Given the description of an element on the screen output the (x, y) to click on. 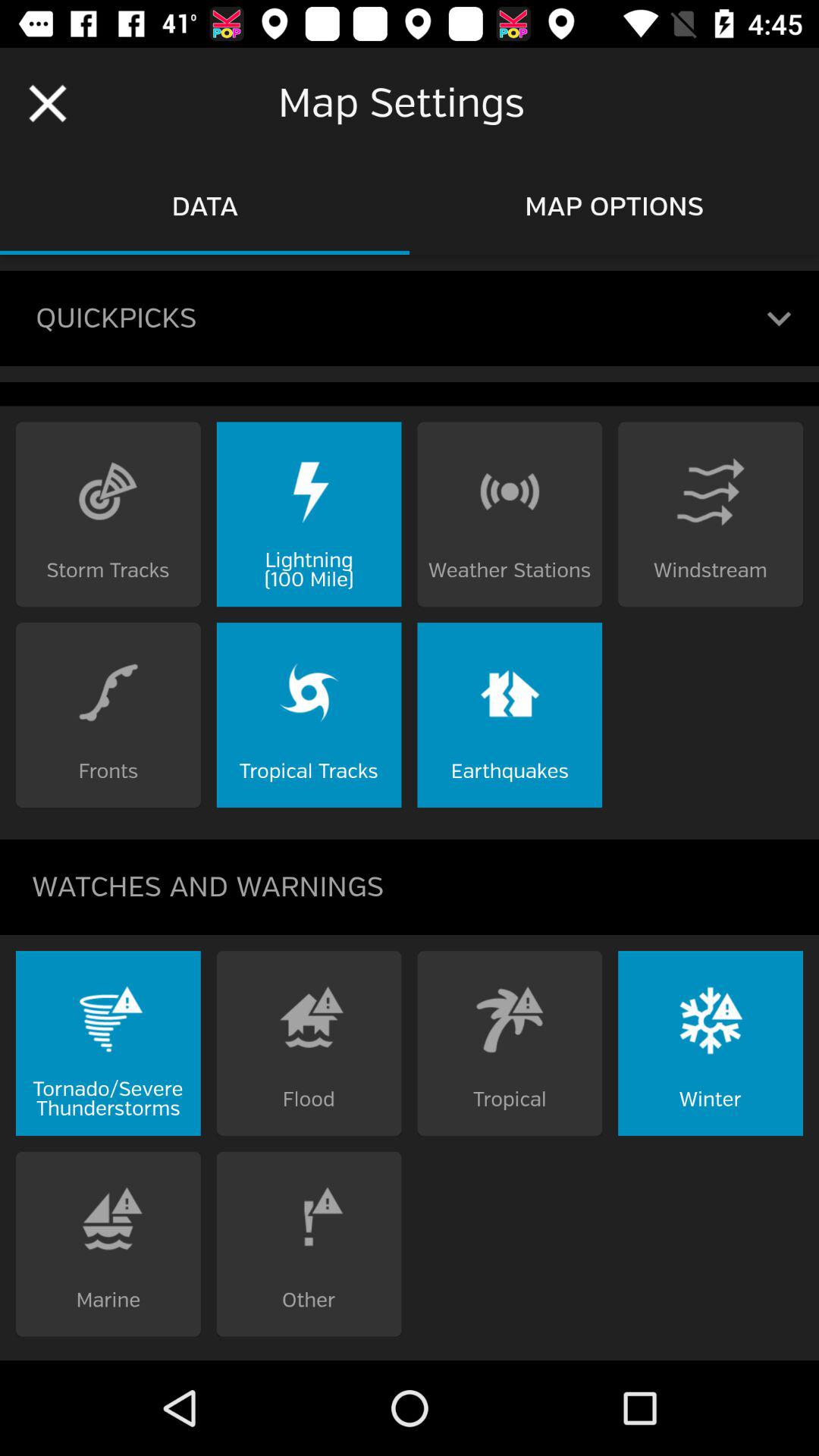
open a tab with your most recent map settings (779, 318)
